Given the description of an element on the screen output the (x, y) to click on. 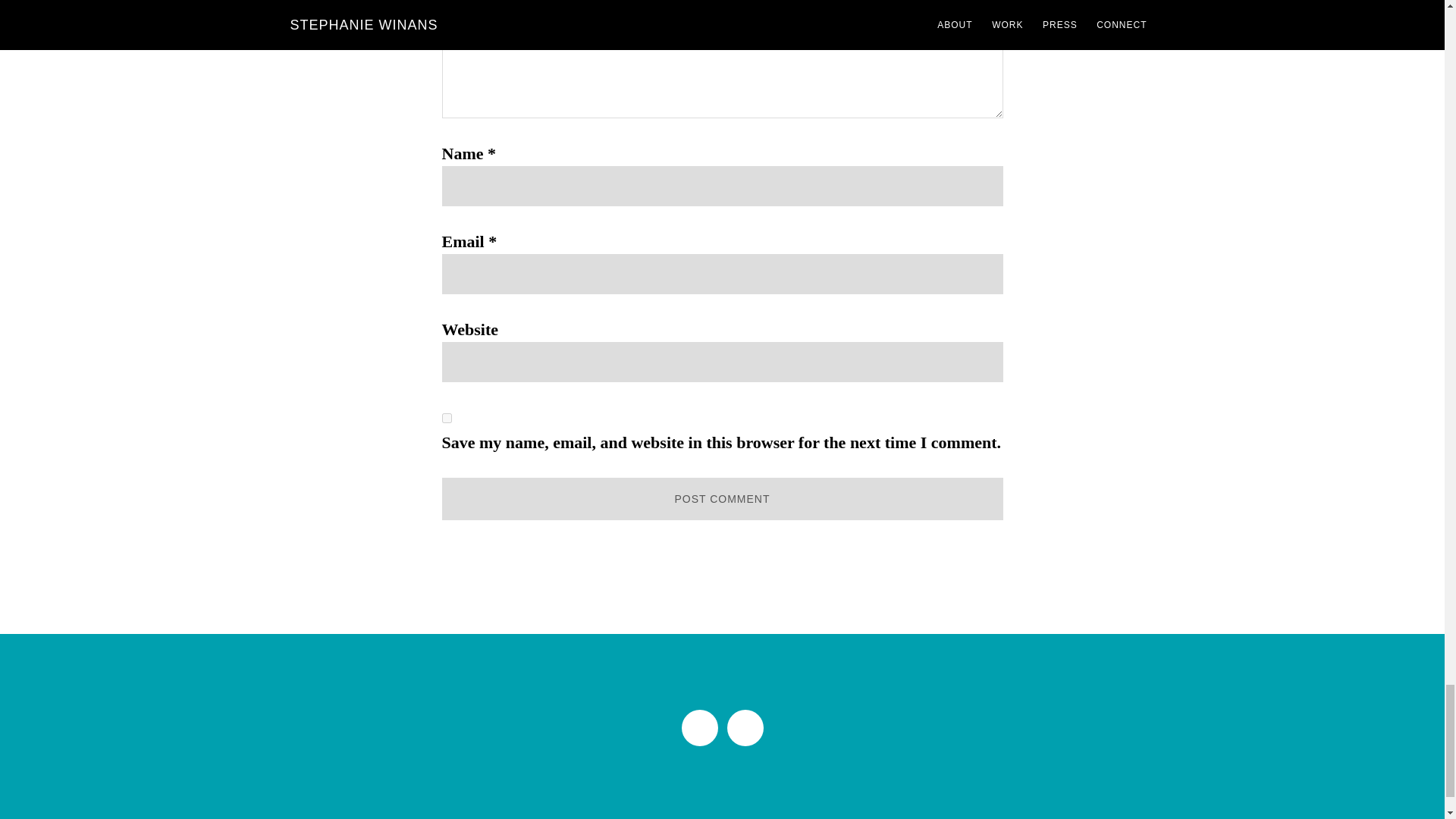
yes (446, 418)
Post Comment (722, 498)
